Given the description of an element on the screen output the (x, y) to click on. 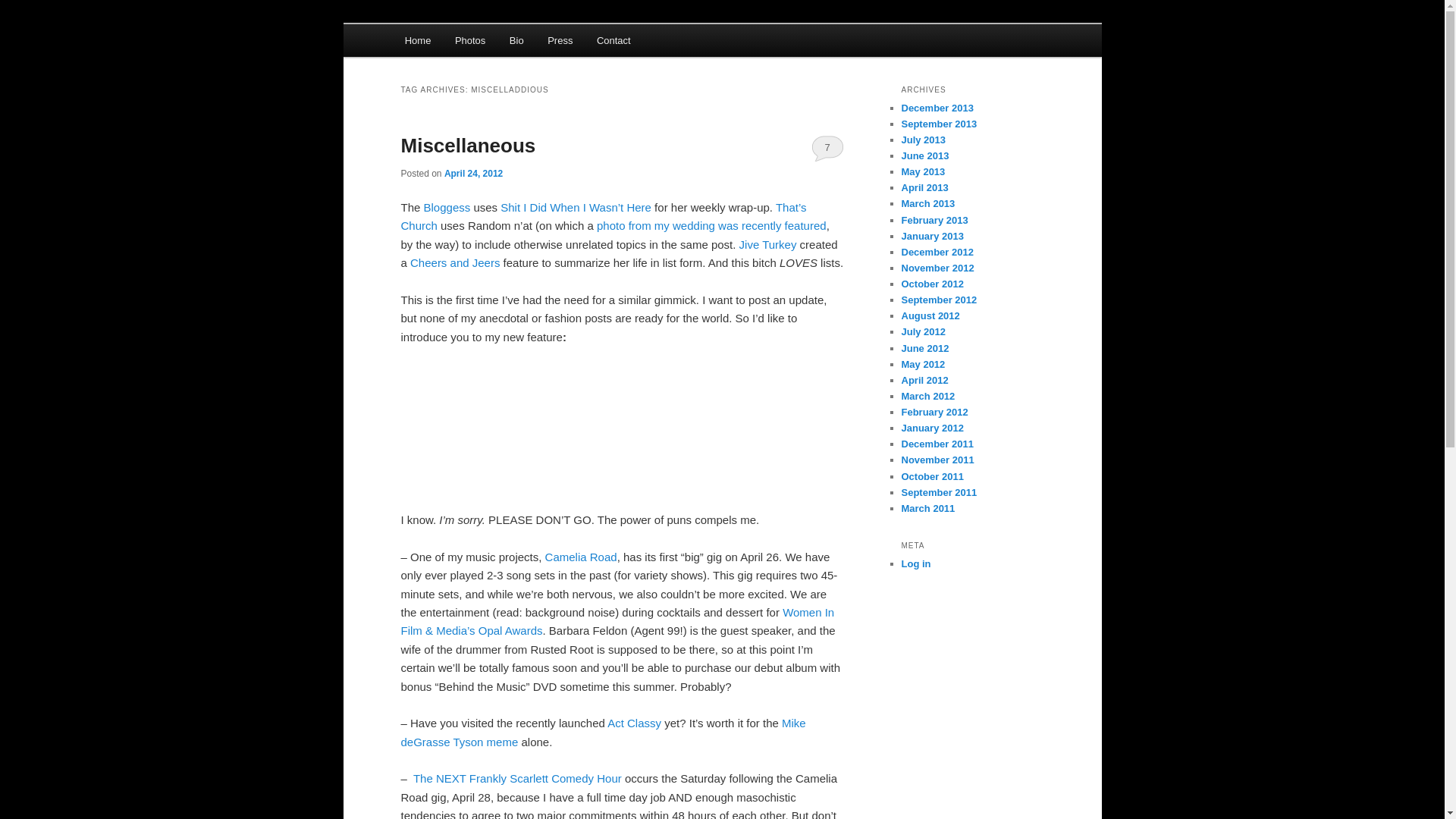
Permalink to Miscellaneous (467, 145)
Cheers and Jeers (454, 262)
photo from my wedding was recently featured (711, 225)
May 2013 (922, 171)
The NEXT Frankly Scarlett Comedy Hour (517, 778)
Home (417, 40)
April 24, 2012 (473, 173)
Press (560, 40)
Jive Turkey (767, 244)
7 (827, 147)
Contact (613, 40)
Skip to secondary content (479, 43)
Bloggess (446, 206)
10:21 am (473, 173)
Home (417, 40)
